Given the description of an element on the screen output the (x, y) to click on. 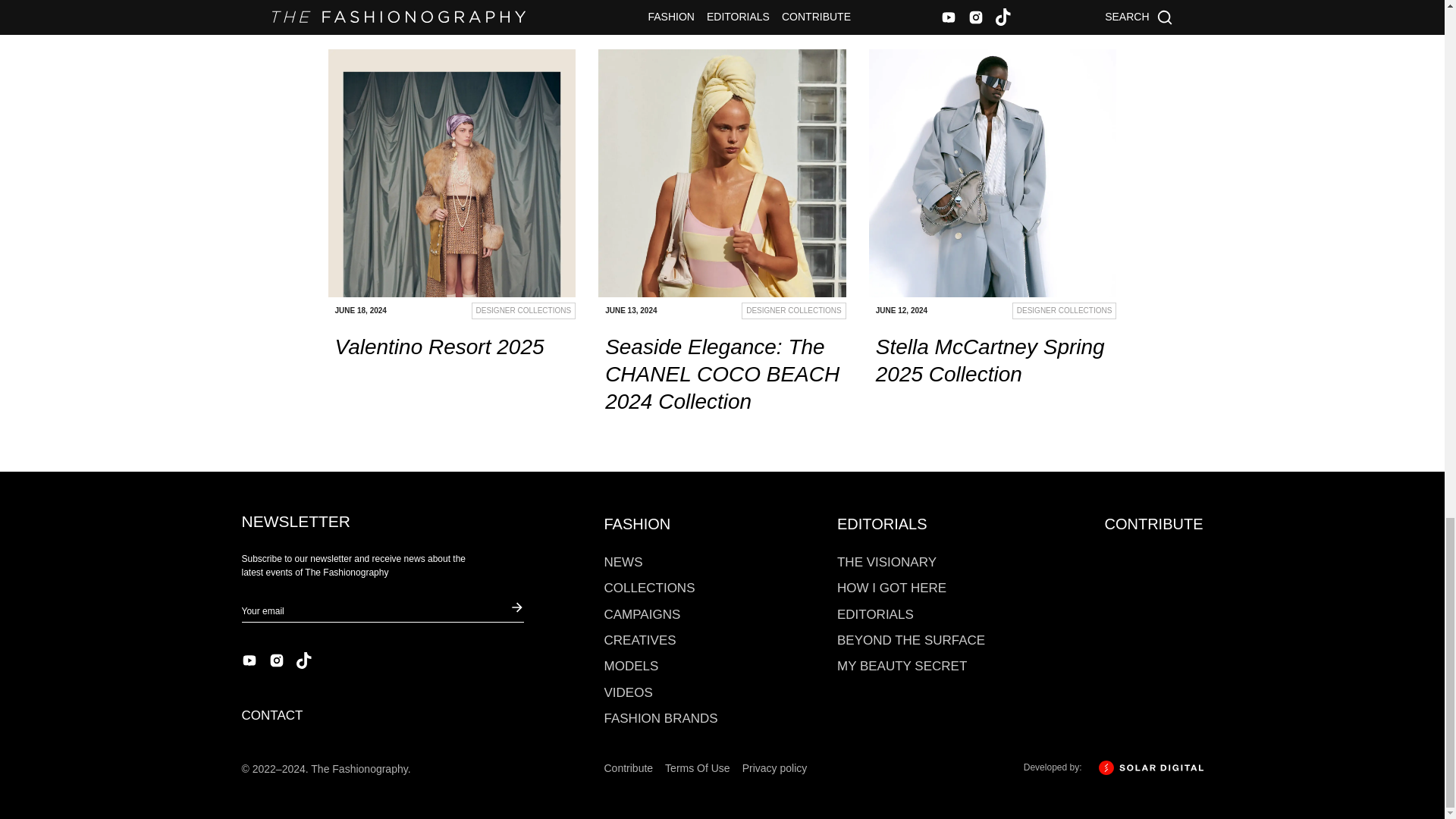
JUNE 18, 2024 (391, 311)
Your email (371, 611)
June 18, 2024 (391, 311)
Valentino Resort 2025 (451, 173)
